Given the description of an element on the screen output the (x, y) to click on. 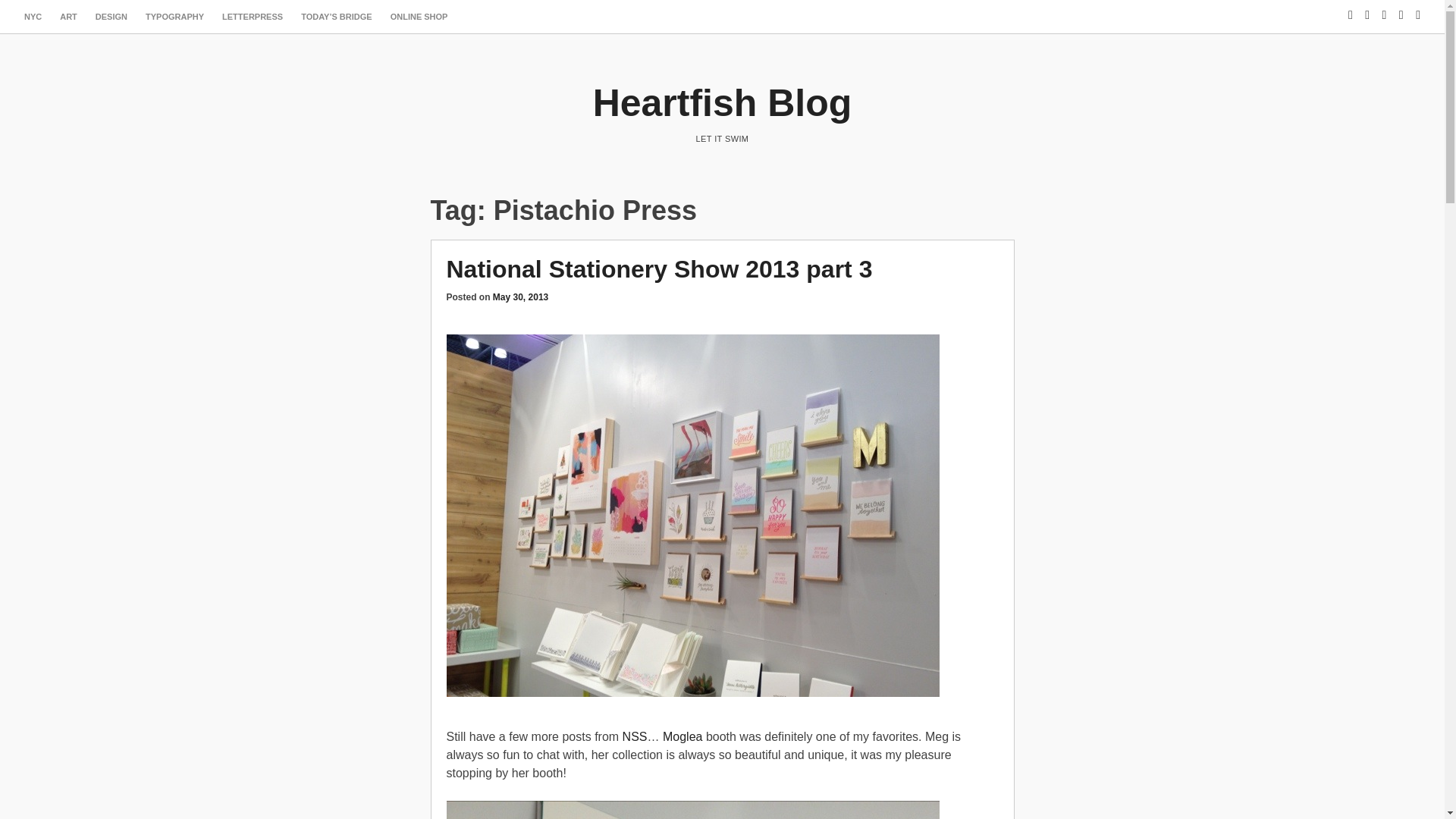
online shop (419, 17)
NSS (635, 735)
May 30, 2013 (520, 296)
Heartfish Blog (721, 102)
National Stationery Show 2013 part 3 (658, 267)
NSS 2013 (635, 735)
Moglea (681, 735)
